Given the description of an element on the screen output the (x, y) to click on. 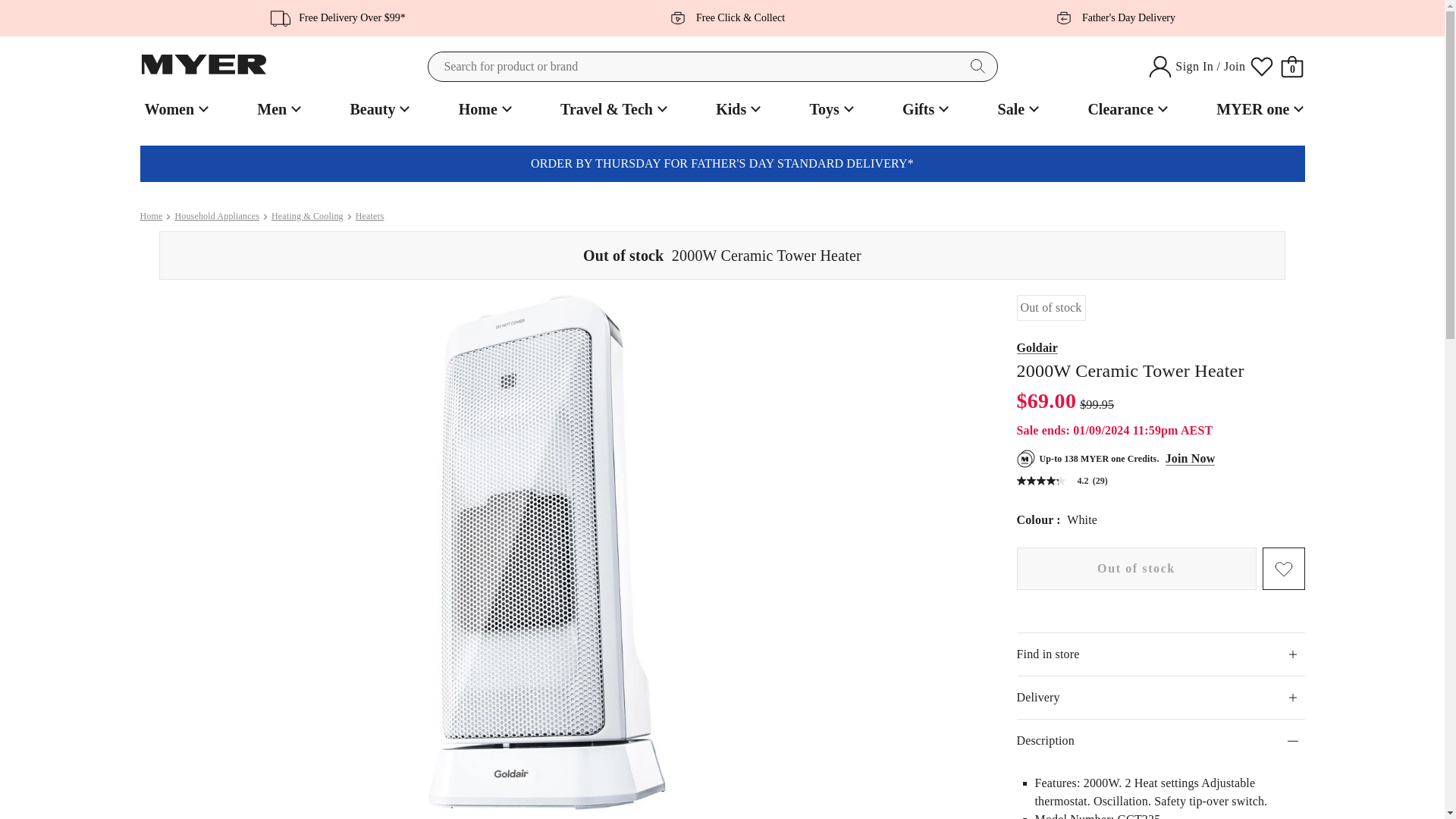
Father's Day Delivery (1110, 17)
0 (1291, 66)
Women (174, 109)
